Given the description of an element on the screen output the (x, y) to click on. 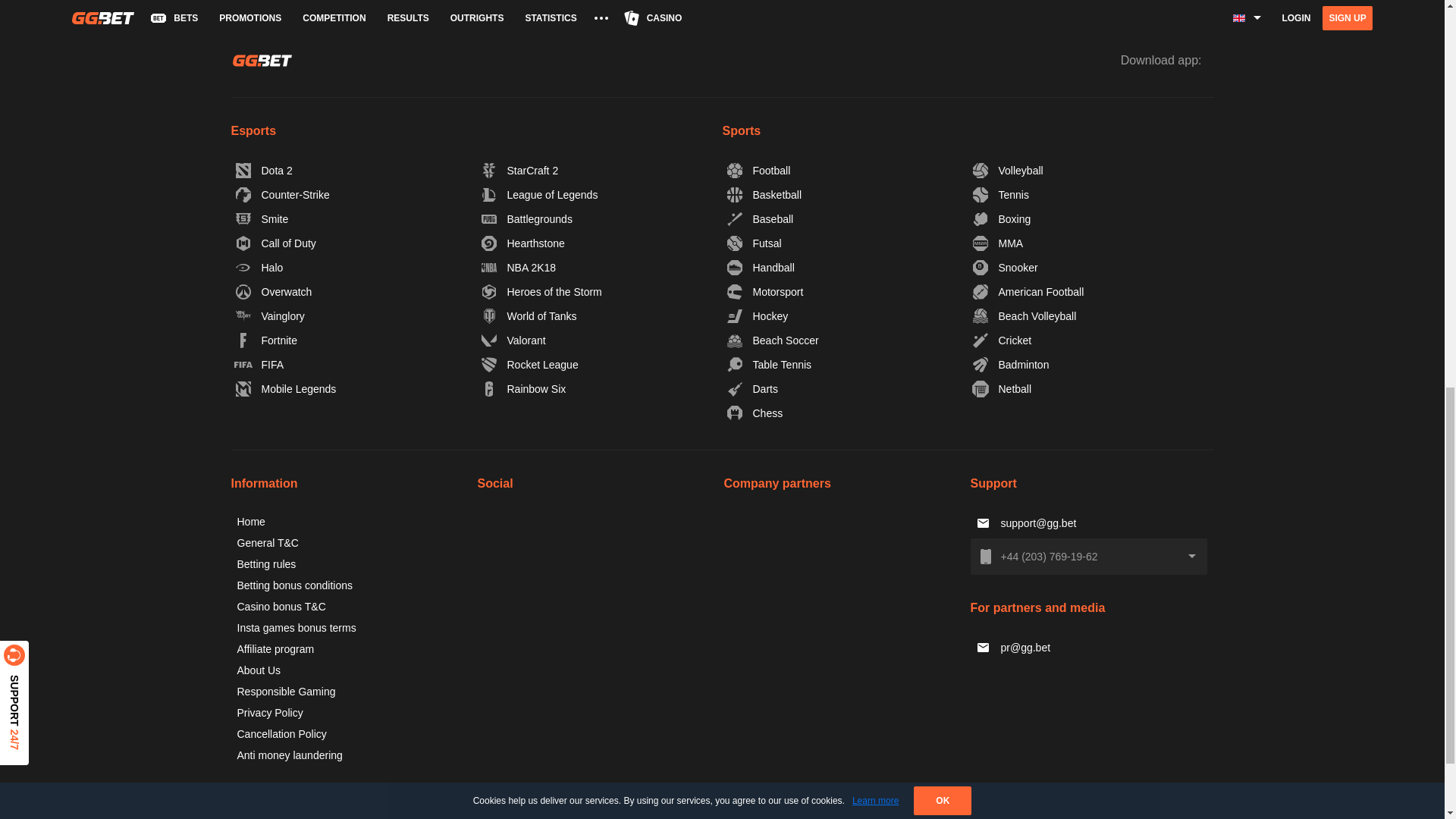
Heroes of the Storm (541, 291)
Battlegrounds (527, 218)
Rainbow Six (524, 388)
World of Tanks (529, 315)
Halo (259, 267)
StarCraft 2 (520, 170)
Overwatch (273, 291)
Football (759, 170)
Valorant (513, 340)
Mobile Legends (286, 388)
League of Legends (540, 194)
Smite (262, 218)
Vainglory (270, 315)
Volleyball (1008, 170)
Dota 2 (264, 170)
